Given the description of an element on the screen output the (x, y) to click on. 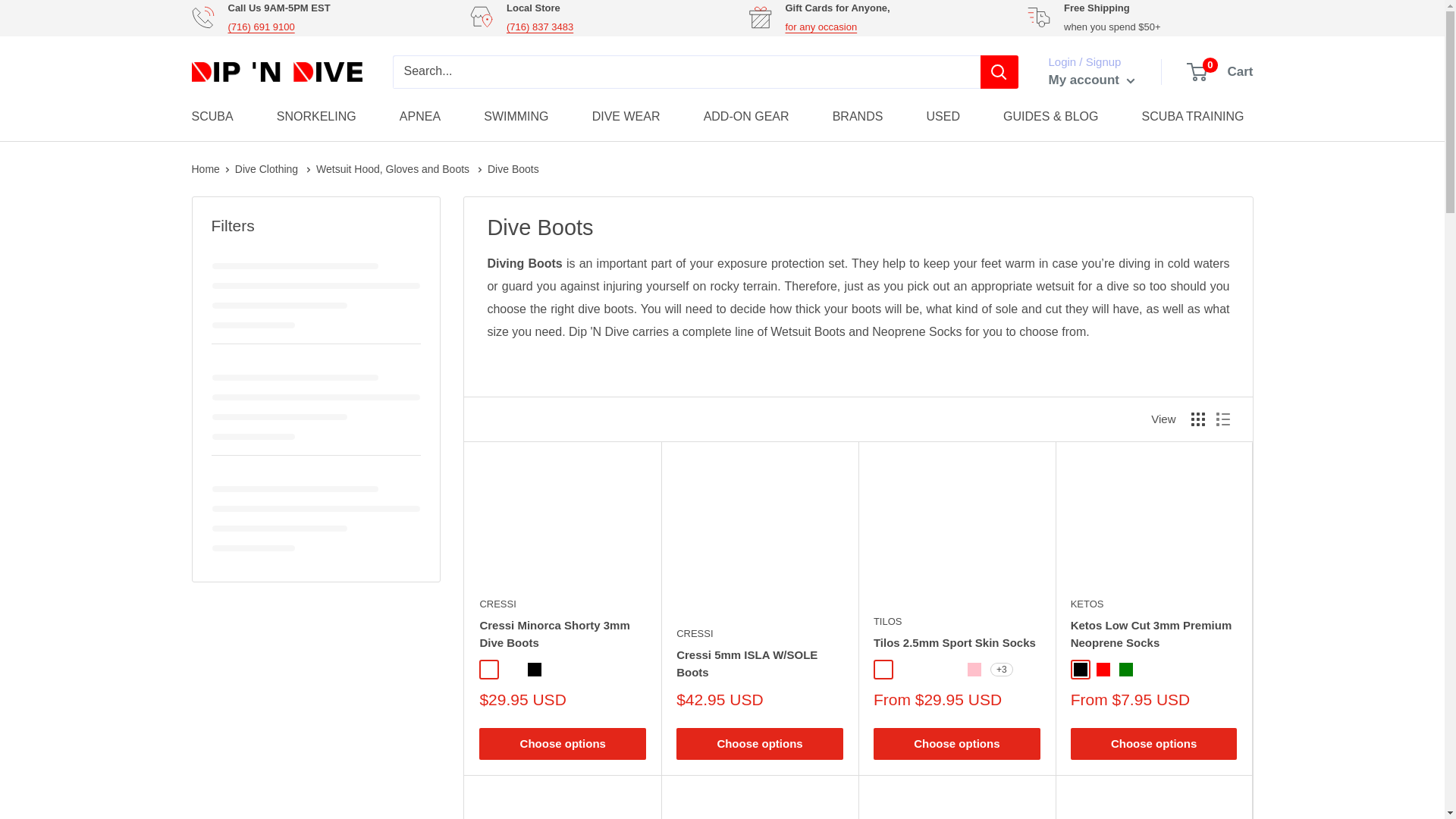
Coral Flower (882, 669)
Pink (974, 669)
Black (1080, 669)
Blue Flower (951, 669)
Green (1125, 669)
DIPNDIVE Gift Card (821, 26)
Red (1102, 669)
Digital Grey (905, 669)
for any occasion (821, 26)
Digital Blue (928, 669)
